Given the description of an element on the screen output the (x, y) to click on. 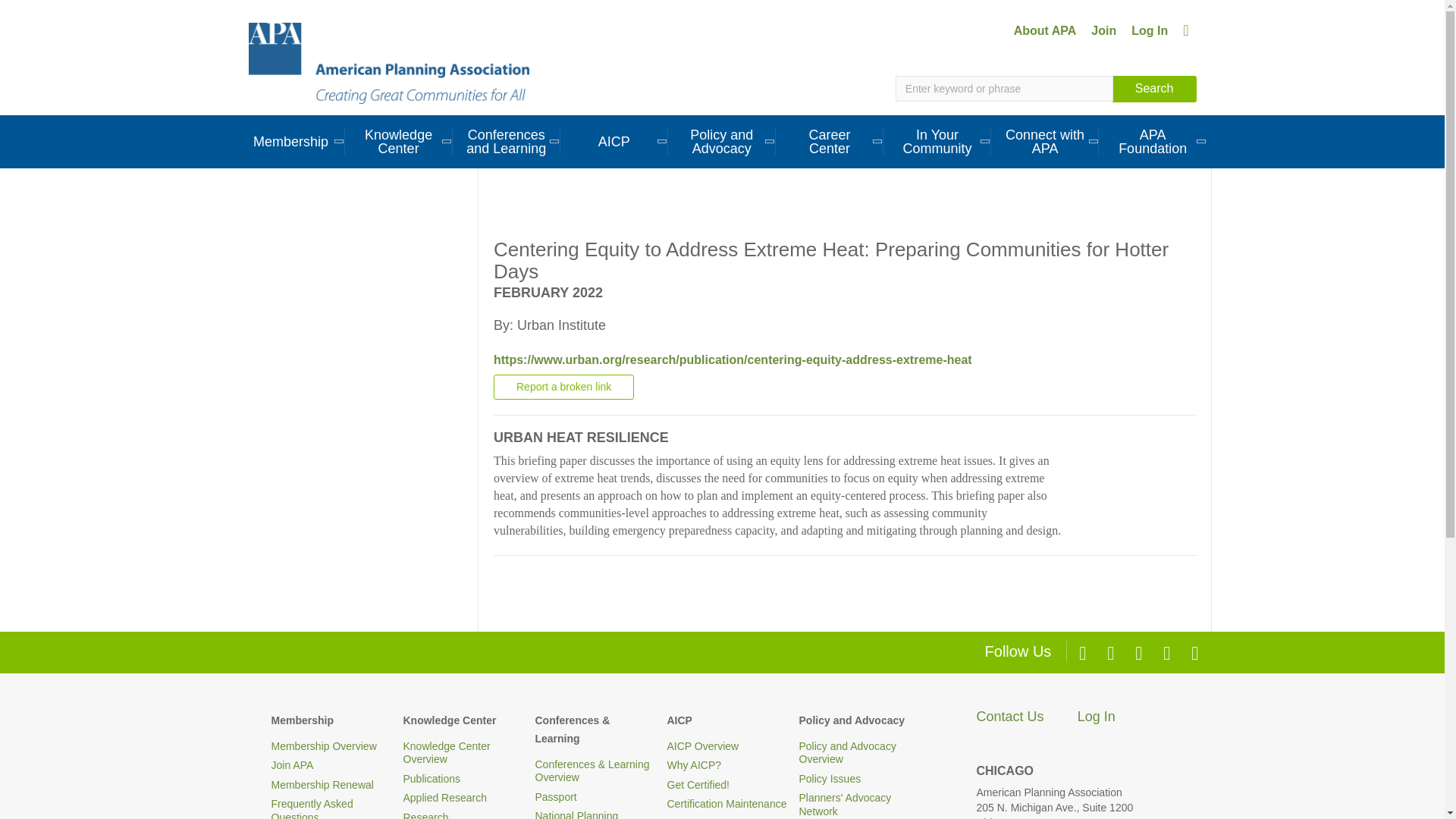
Join (1103, 30)
APA Foundation (1153, 141)
Log In (1149, 30)
Policy and Advocacy (722, 141)
In Your Community (937, 141)
Connect with APA (1045, 141)
AICP (614, 141)
Knowledge Center (398, 141)
Conferences and Learning (506, 141)
Search (1154, 89)
